Given the description of an element on the screen output the (x, y) to click on. 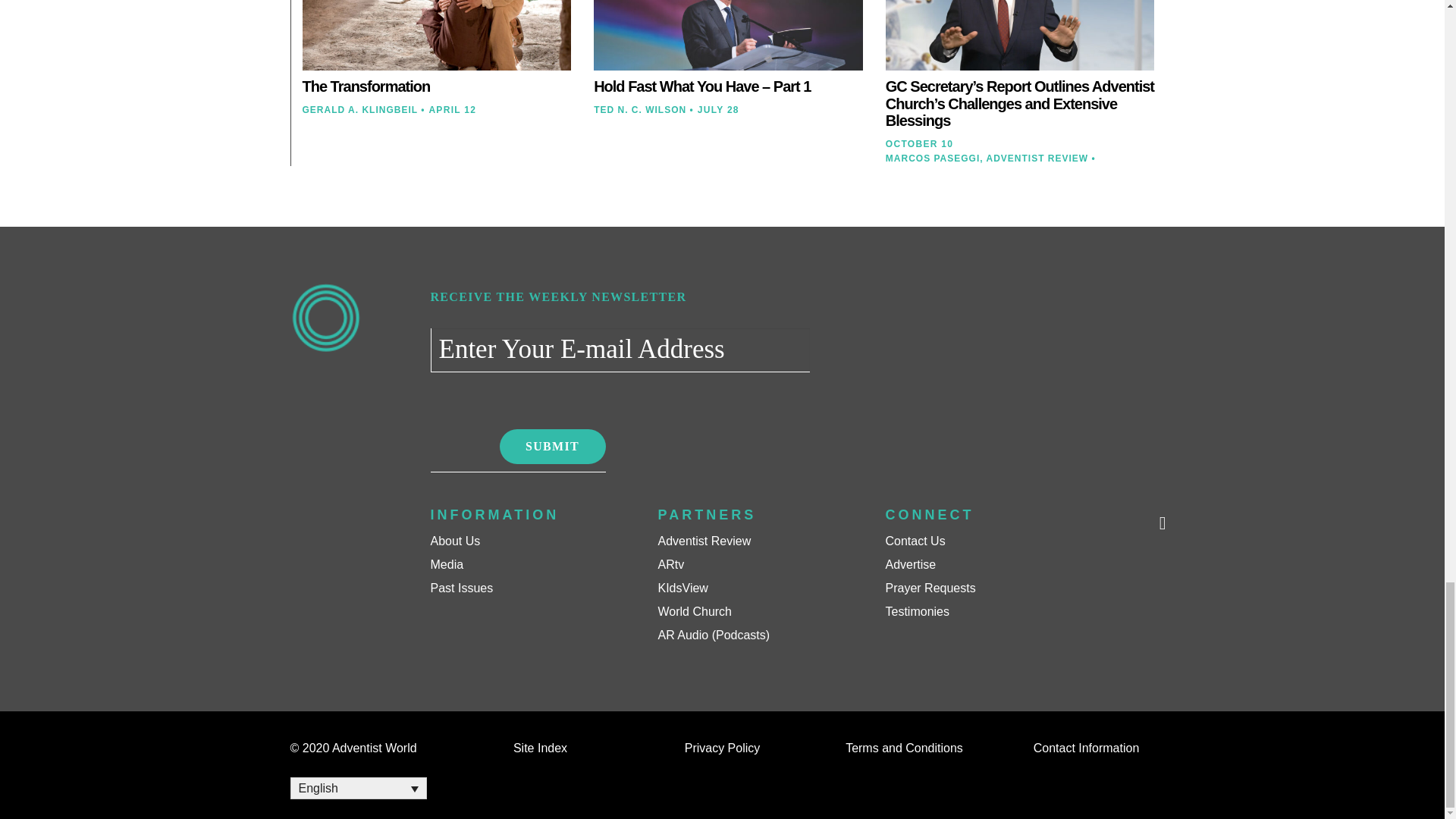
The Transformation (365, 86)
GERALD A. KLINGBEIL (358, 109)
TED N. C. WILSON (639, 109)
The Transformation (365, 86)
